Given the description of an element on the screen output the (x, y) to click on. 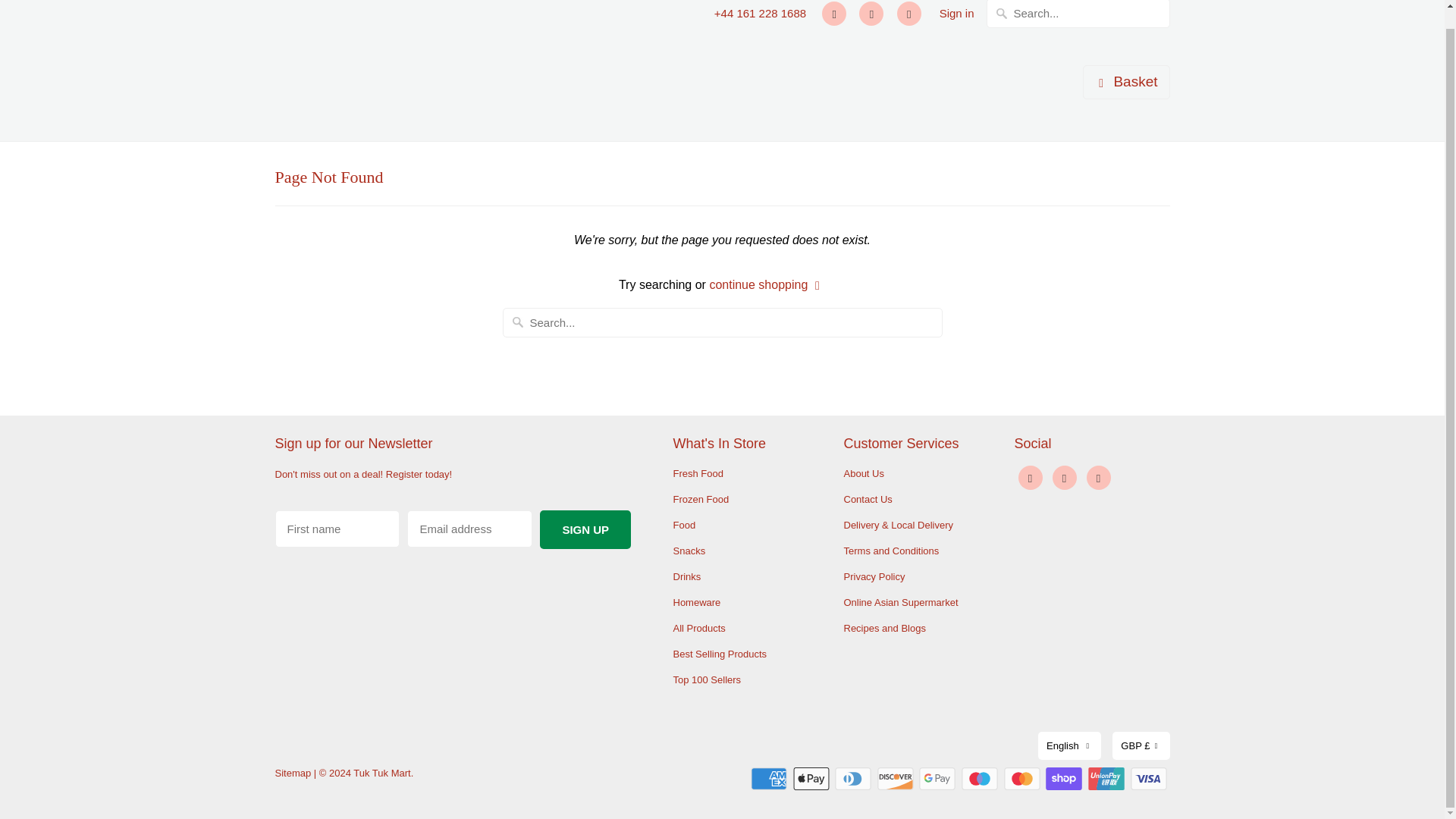
Visa (1149, 778)
Maestro (980, 778)
Sign Up (585, 529)
Tuk Tuk Mart on Instagram (1064, 477)
Union Pay (1106, 778)
Mastercard (1023, 778)
Tuk Tuk Mart on Instagram (871, 13)
Tuk Tuk Mart (342, 64)
Apple Pay (812, 778)
American Express (770, 778)
My Account (956, 13)
Tuk Tuk Mart on Facebook (833, 13)
Google Pay (938, 778)
Email Tuk Tuk Mart (1097, 477)
Email Tuk Tuk Mart (908, 13)
